Given the description of an element on the screen output the (x, y) to click on. 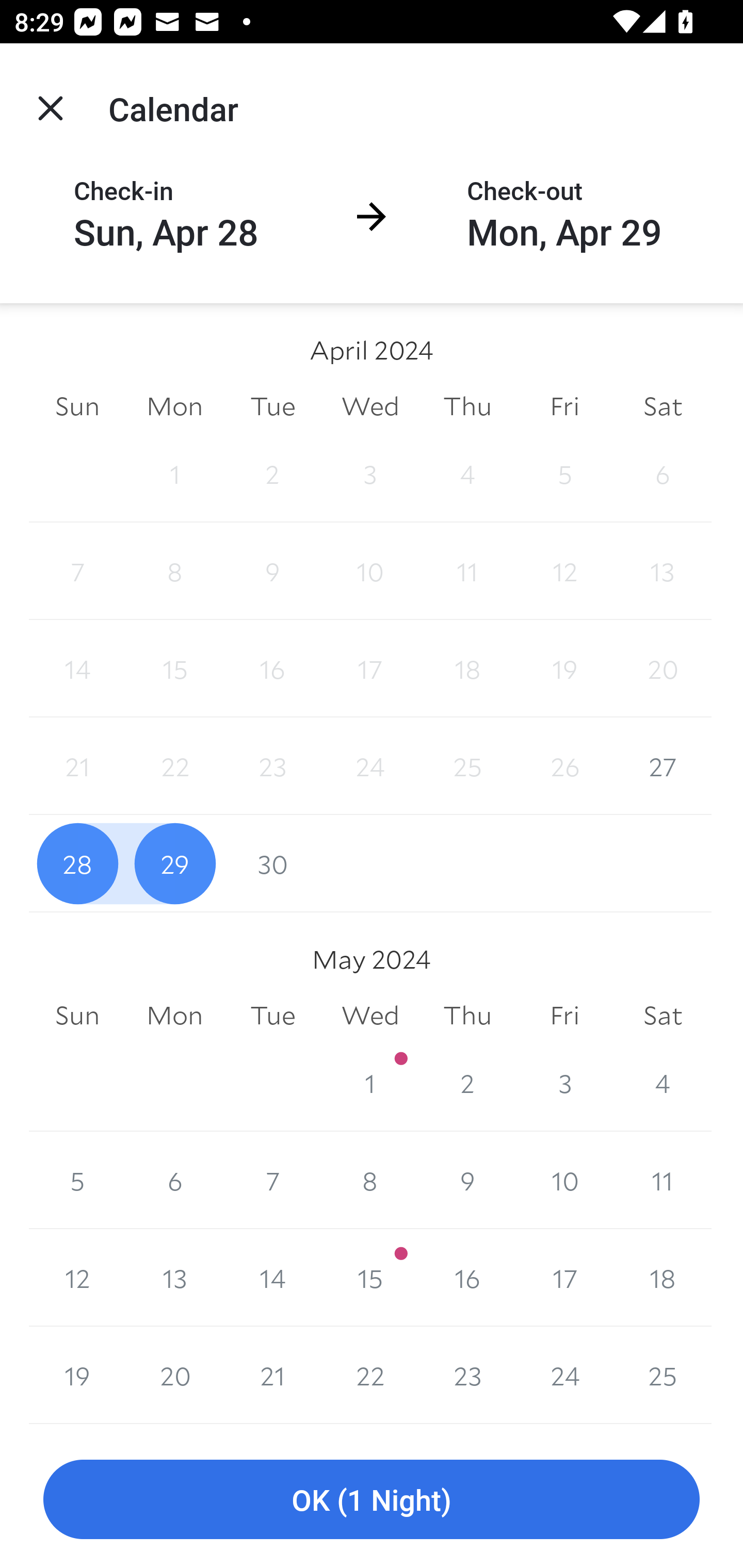
Sun (77, 405)
Mon (174, 405)
Tue (272, 405)
Wed (370, 405)
Thu (467, 405)
Fri (564, 405)
Sat (662, 405)
1 1 April 2024 (174, 473)
2 2 April 2024 (272, 473)
3 3 April 2024 (370, 473)
4 4 April 2024 (467, 473)
5 5 April 2024 (564, 473)
6 6 April 2024 (662, 473)
7 7 April 2024 (77, 570)
8 8 April 2024 (174, 570)
9 9 April 2024 (272, 570)
10 10 April 2024 (370, 570)
11 11 April 2024 (467, 570)
12 12 April 2024 (564, 570)
13 13 April 2024 (662, 570)
14 14 April 2024 (77, 668)
15 15 April 2024 (174, 668)
16 16 April 2024 (272, 668)
17 17 April 2024 (370, 668)
18 18 April 2024 (467, 668)
19 19 April 2024 (564, 668)
20 20 April 2024 (662, 668)
21 21 April 2024 (77, 766)
22 22 April 2024 (174, 766)
23 23 April 2024 (272, 766)
24 24 April 2024 (370, 766)
25 25 April 2024 (467, 766)
26 26 April 2024 (564, 766)
27 27 April 2024 (662, 766)
28 28 April 2024 (77, 863)
29 29 April 2024 (174, 863)
30 30 April 2024 (272, 863)
Sun (77, 1015)
Mon (174, 1015)
Tue (272, 1015)
Wed (370, 1015)
Thu (467, 1015)
Fri (564, 1015)
Sat (662, 1015)
1 1 May 2024 (370, 1083)
2 2 May 2024 (467, 1083)
3 3 May 2024 (564, 1083)
4 4 May 2024 (662, 1083)
5 5 May 2024 (77, 1180)
6 6 May 2024 (174, 1180)
7 7 May 2024 (272, 1180)
8 8 May 2024 (370, 1180)
9 9 May 2024 (467, 1180)
10 10 May 2024 (564, 1180)
11 11 May 2024 (662, 1180)
12 12 May 2024 (77, 1277)
13 13 May 2024 (174, 1277)
14 14 May 2024 (272, 1277)
15 15 May 2024 (370, 1277)
16 16 May 2024 (467, 1277)
17 17 May 2024 (564, 1277)
18 18 May 2024 (662, 1277)
19 19 May 2024 (77, 1374)
20 20 May 2024 (174, 1374)
21 21 May 2024 (272, 1374)
22 22 May 2024 (370, 1374)
23 23 May 2024 (467, 1374)
24 24 May 2024 (564, 1374)
25 25 May 2024 (662, 1374)
OK (1 Night) (371, 1499)
